Given the description of an element on the screen output the (x, y) to click on. 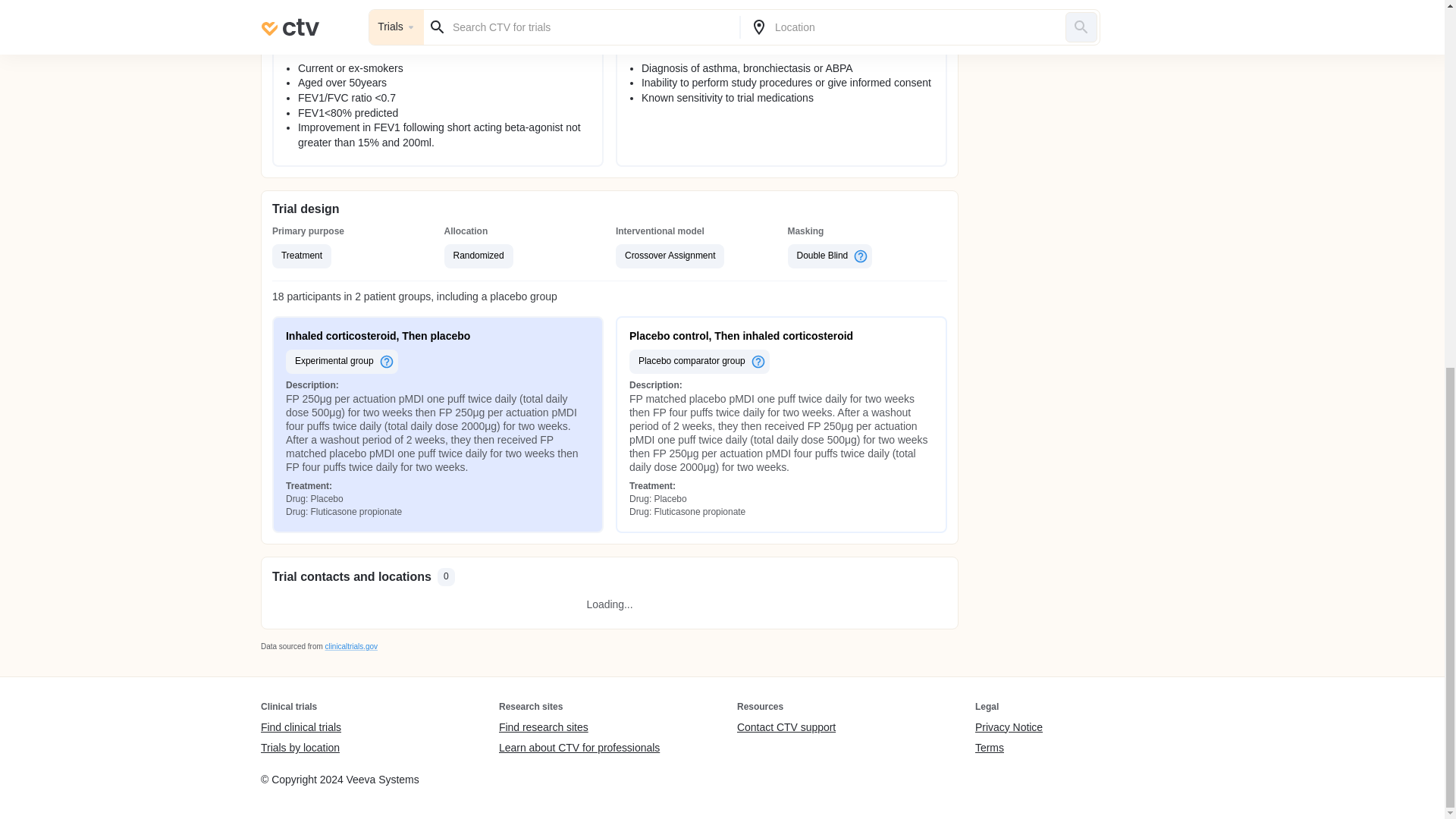
Contact CTV support (785, 726)
Learn about CTV for professionals (579, 748)
Find clinical trials (300, 726)
Privacy Notice (1008, 726)
clinicaltrials.gov (350, 646)
Trials by location (300, 748)
Find research sites (579, 726)
Terms (1008, 748)
